Given the description of an element on the screen output the (x, y) to click on. 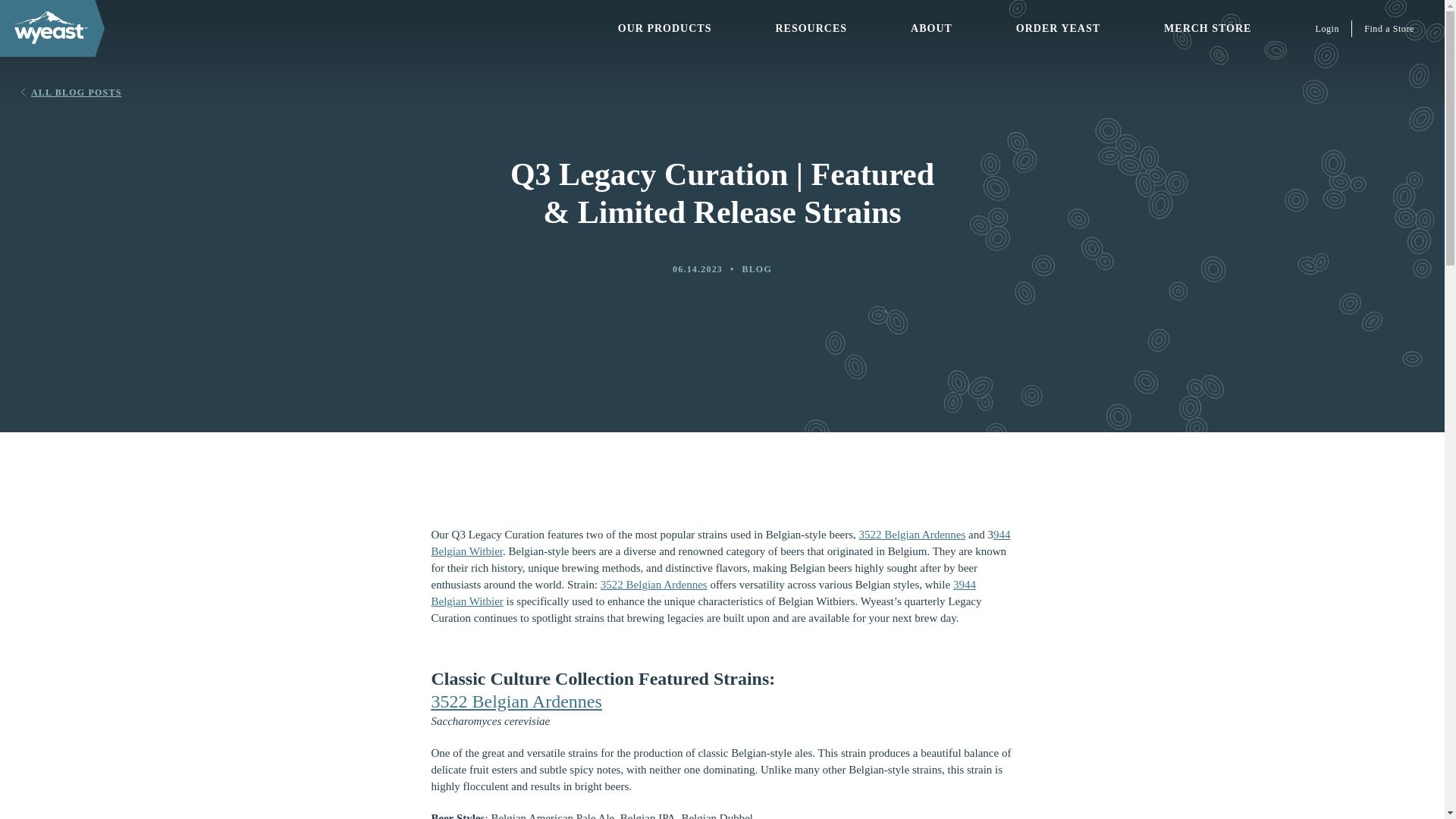
OUR PRODUCTS (664, 27)
ABOUT (930, 27)
RESOURCES (810, 27)
